Given the description of an element on the screen output the (x, y) to click on. 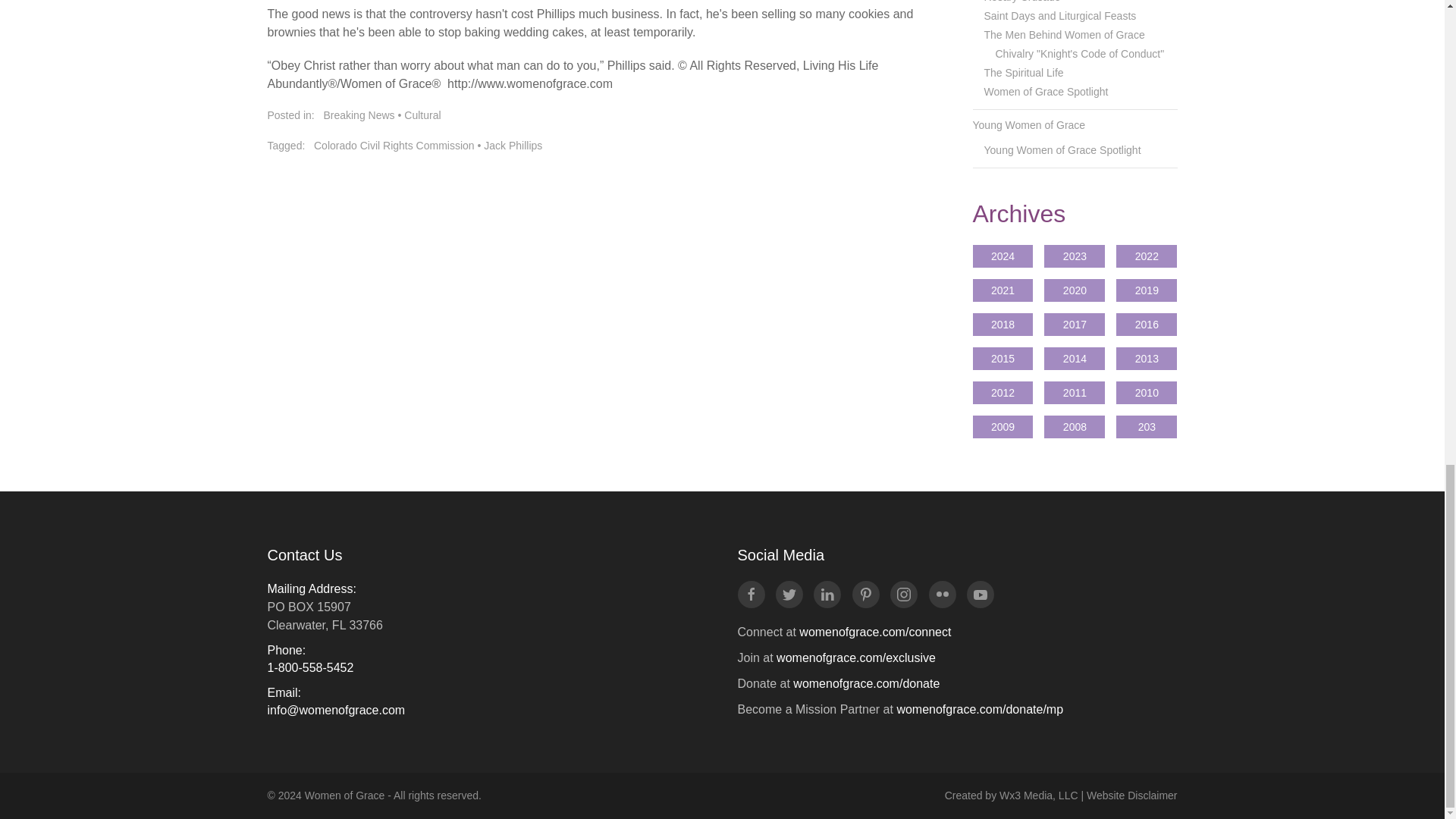
Cultural (422, 114)
Colorado Civil Rights Commission (394, 145)
Jack Phillips (512, 145)
Breaking News (358, 114)
